Given the description of an element on the screen output the (x, y) to click on. 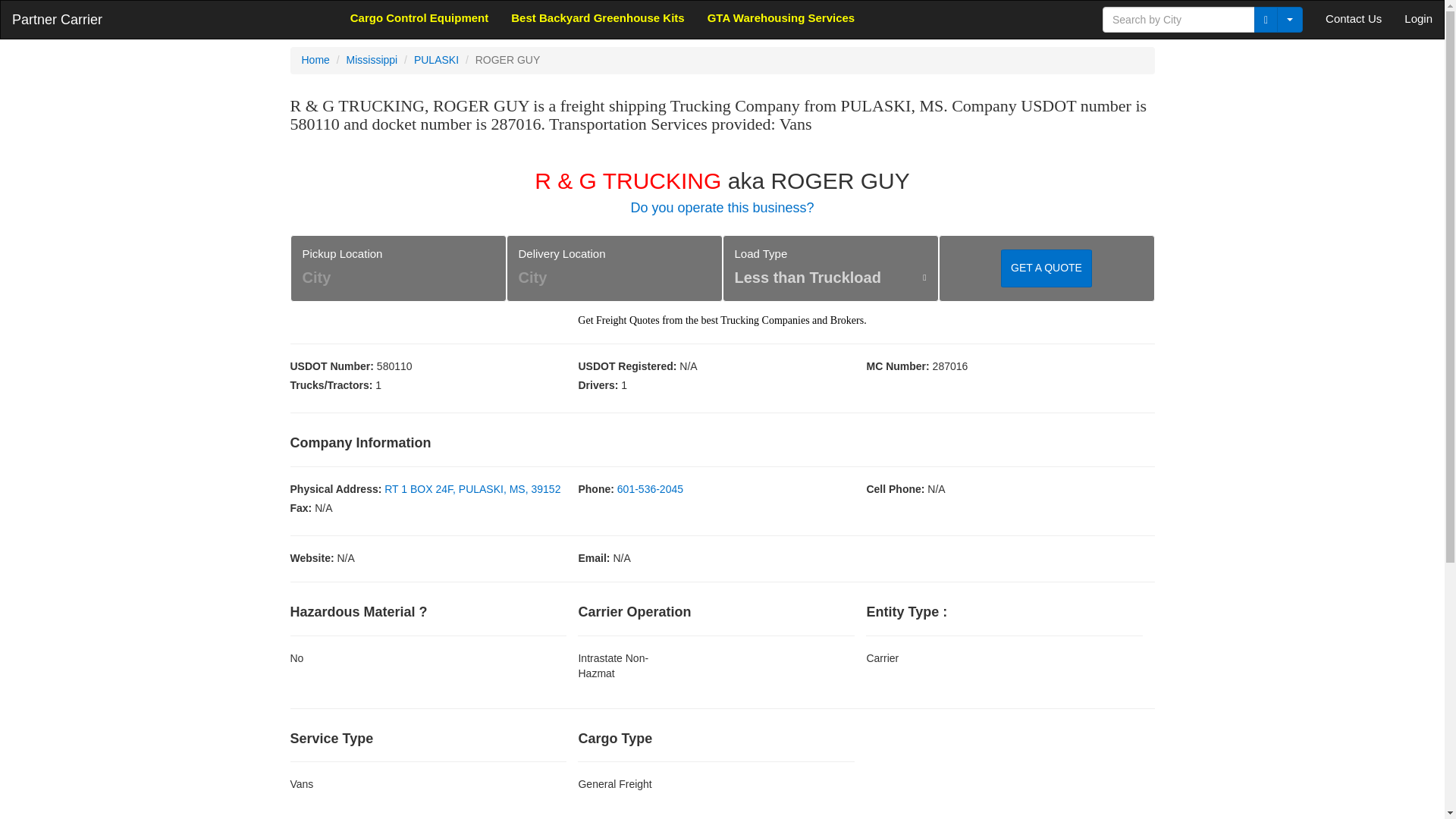
Best Backyard Greenhouse Kits (597, 17)
Home (315, 60)
PULASKI (435, 60)
Do you operate this business? (721, 207)
Cargo Control Equipment (419, 17)
RT 1 BOX 24F, PULASKI, MS, 39152 (472, 489)
Login (1418, 17)
GET A QUOTE (1046, 268)
Contact Us (1353, 17)
Mississippi (371, 60)
601-536-2045 (649, 489)
Partner Carrier (57, 19)
GTA Warehousing Services (780, 17)
